Given the description of an element on the screen output the (x, y) to click on. 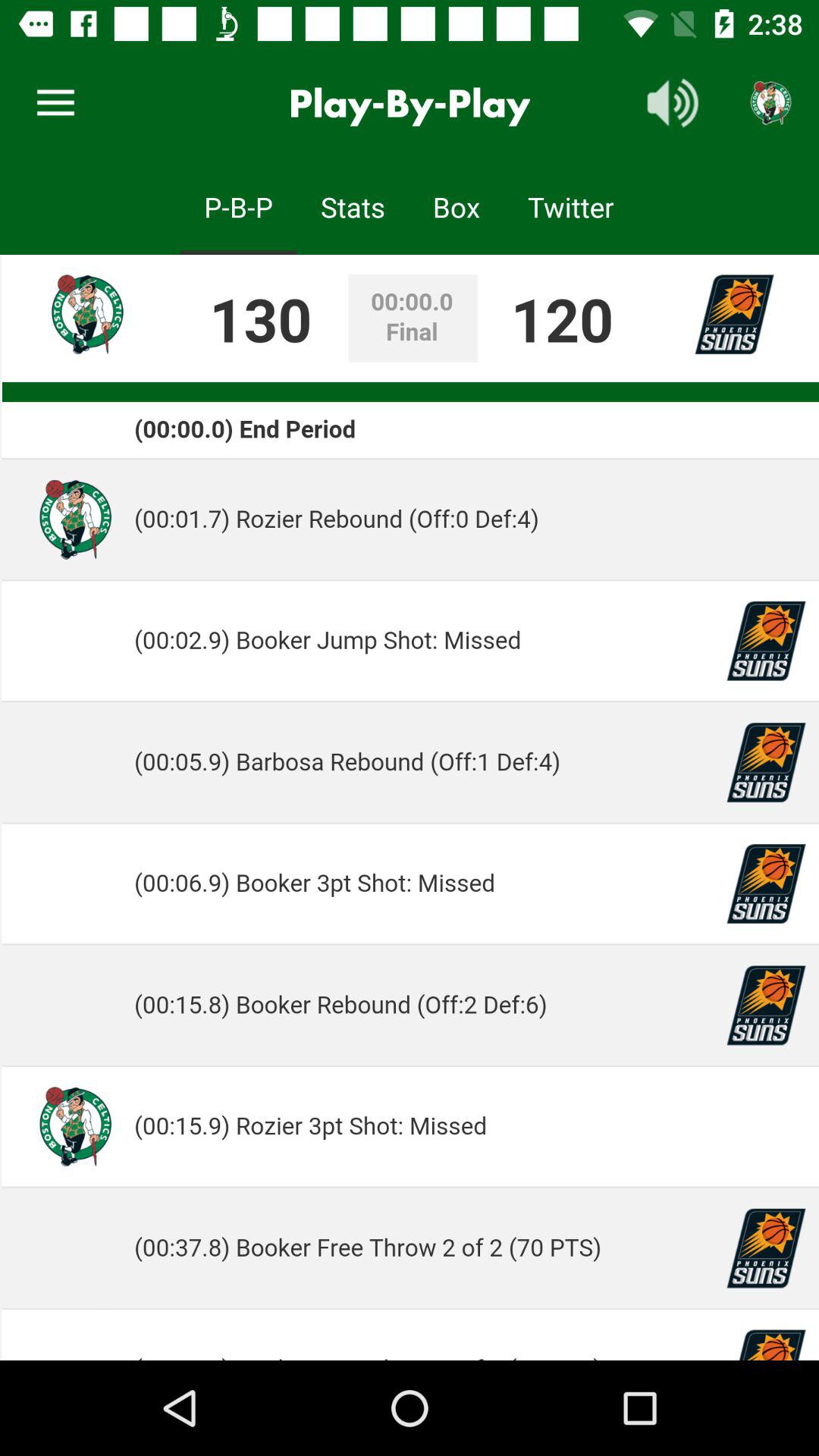
game play visible (409, 807)
